Given the description of an element on the screen output the (x, y) to click on. 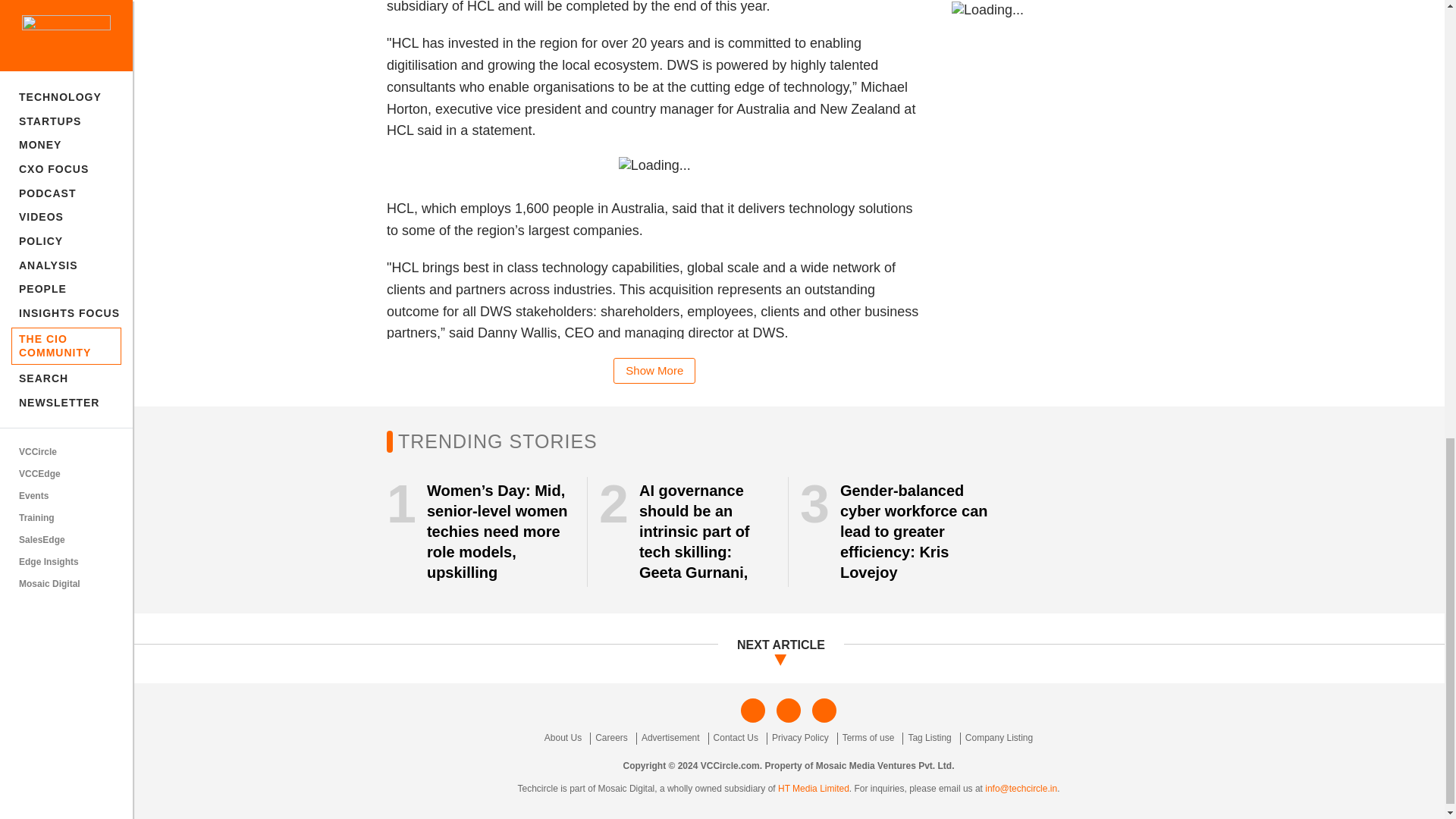
Twitter (788, 710)
Linkedin (823, 710)
Facebook (753, 710)
